Given the description of an element on the screen output the (x, y) to click on. 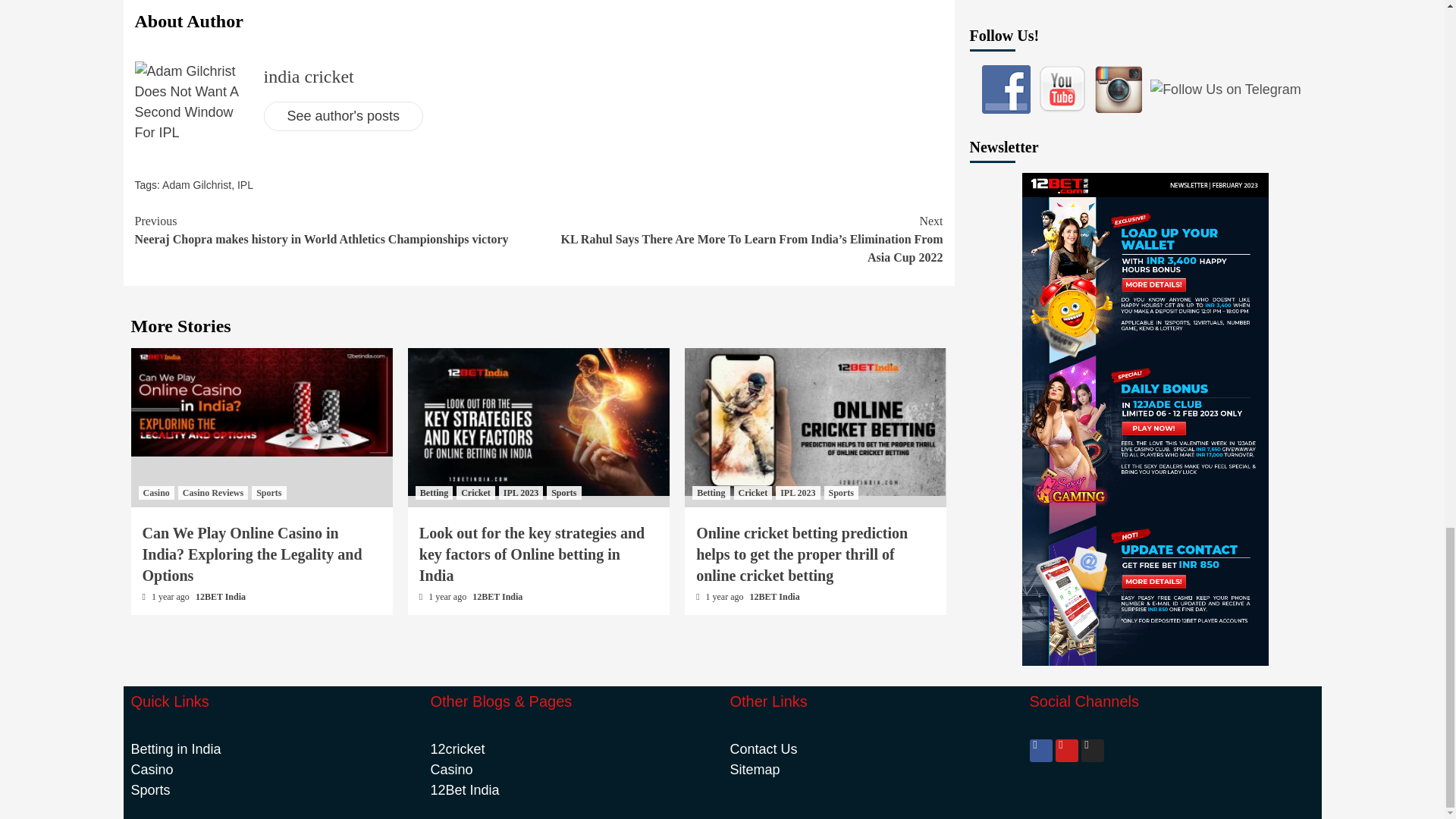
12BET India (220, 596)
Sports (268, 492)
Casino Reviews (212, 492)
Betting (433, 492)
india cricket (308, 75)
Casino (155, 492)
IPL (245, 184)
Sports (563, 492)
